Given the description of an element on the screen output the (x, y) to click on. 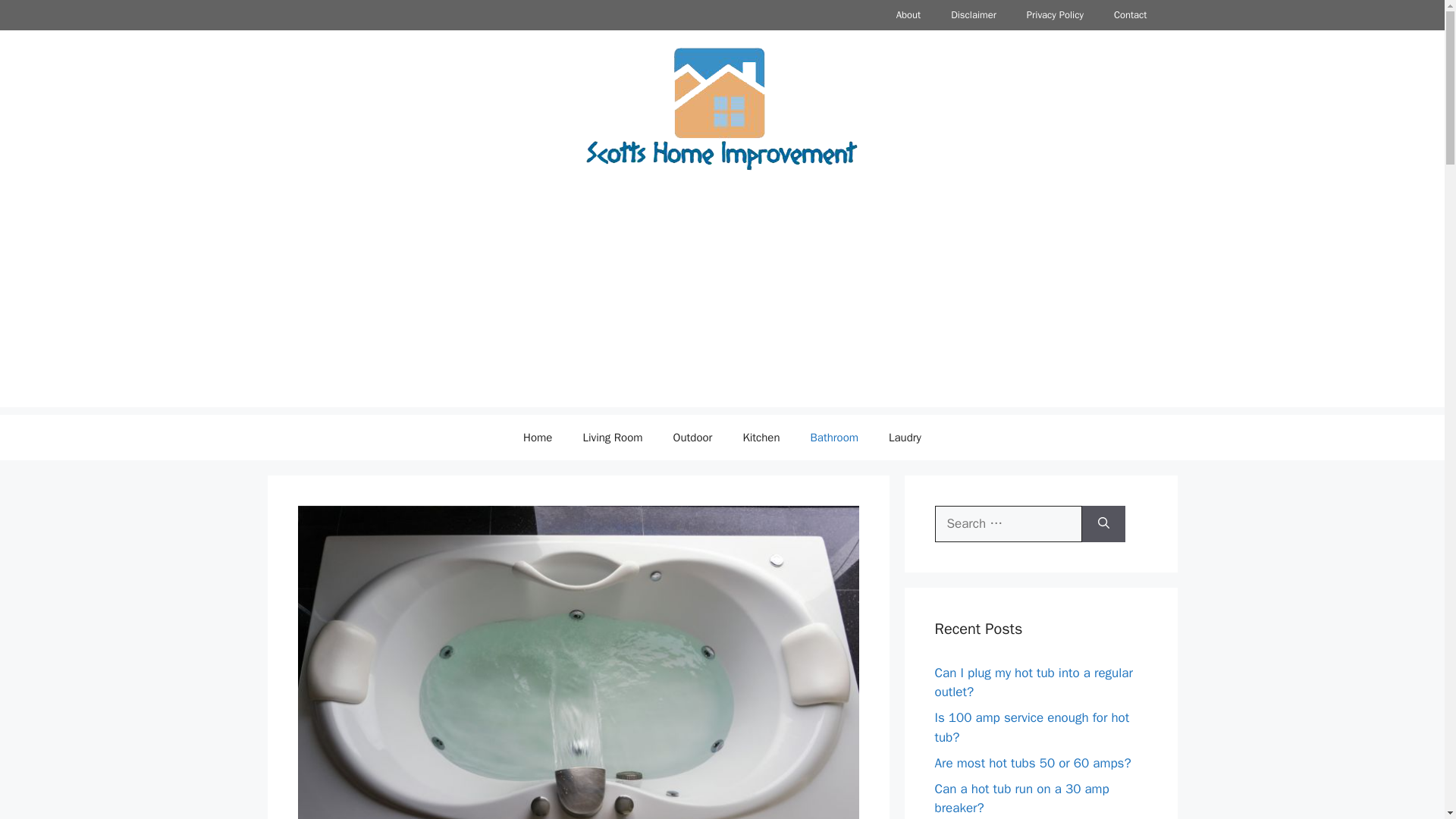
Disclaimer (973, 15)
Privacy Policy (1055, 15)
Can a hot tub run on a 30 amp breaker? (1021, 798)
Can I plug my hot tub into a regular outlet? (1033, 682)
Home (537, 437)
Bathroom (834, 437)
Tips About Home Improvement (722, 108)
Living Room (612, 437)
Search for: (1007, 524)
Tips About Home Improvement (722, 107)
